Given the description of an element on the screen output the (x, y) to click on. 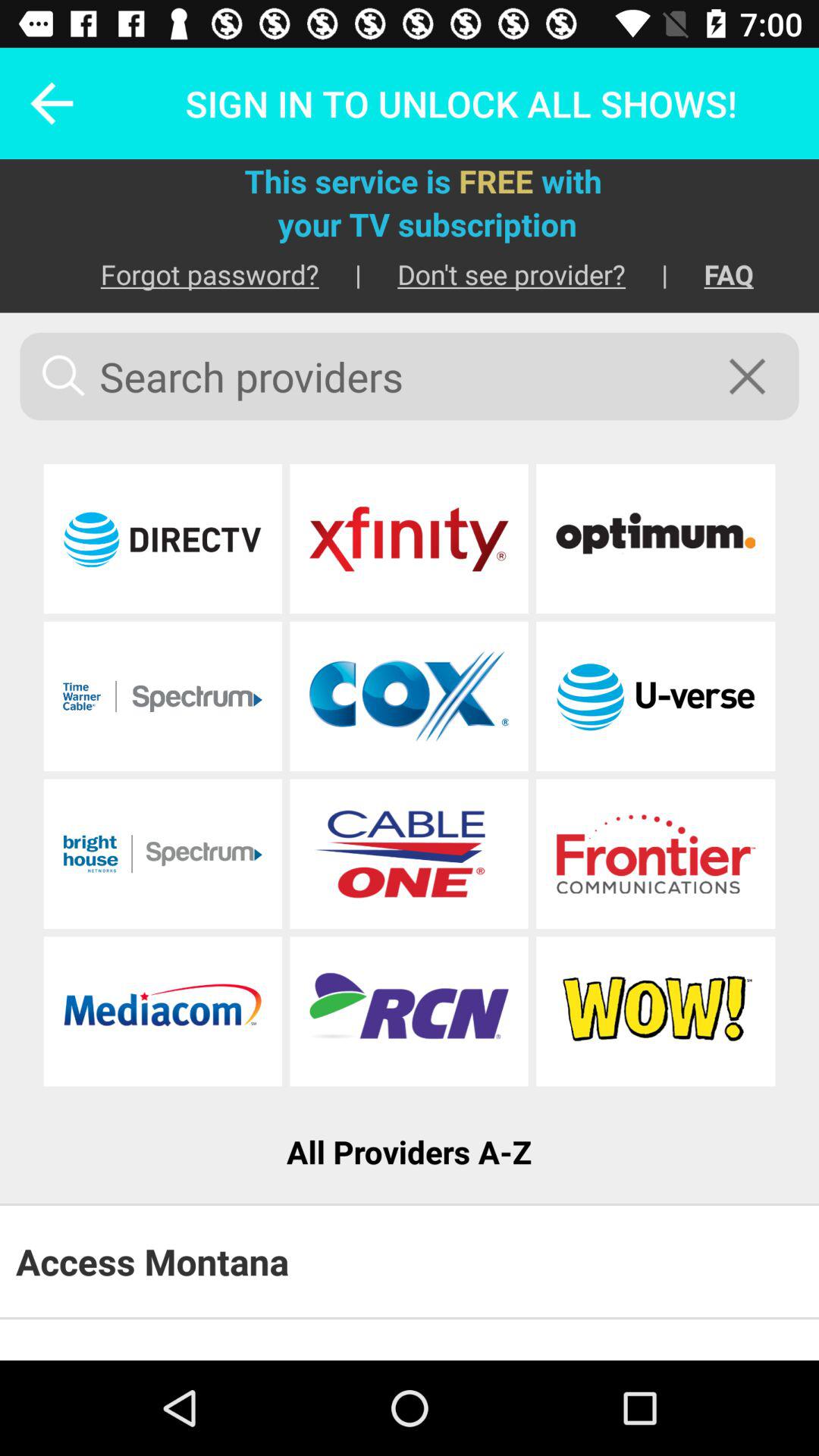
view info on spectrum (162, 853)
